Given the description of an element on the screen output the (x, y) to click on. 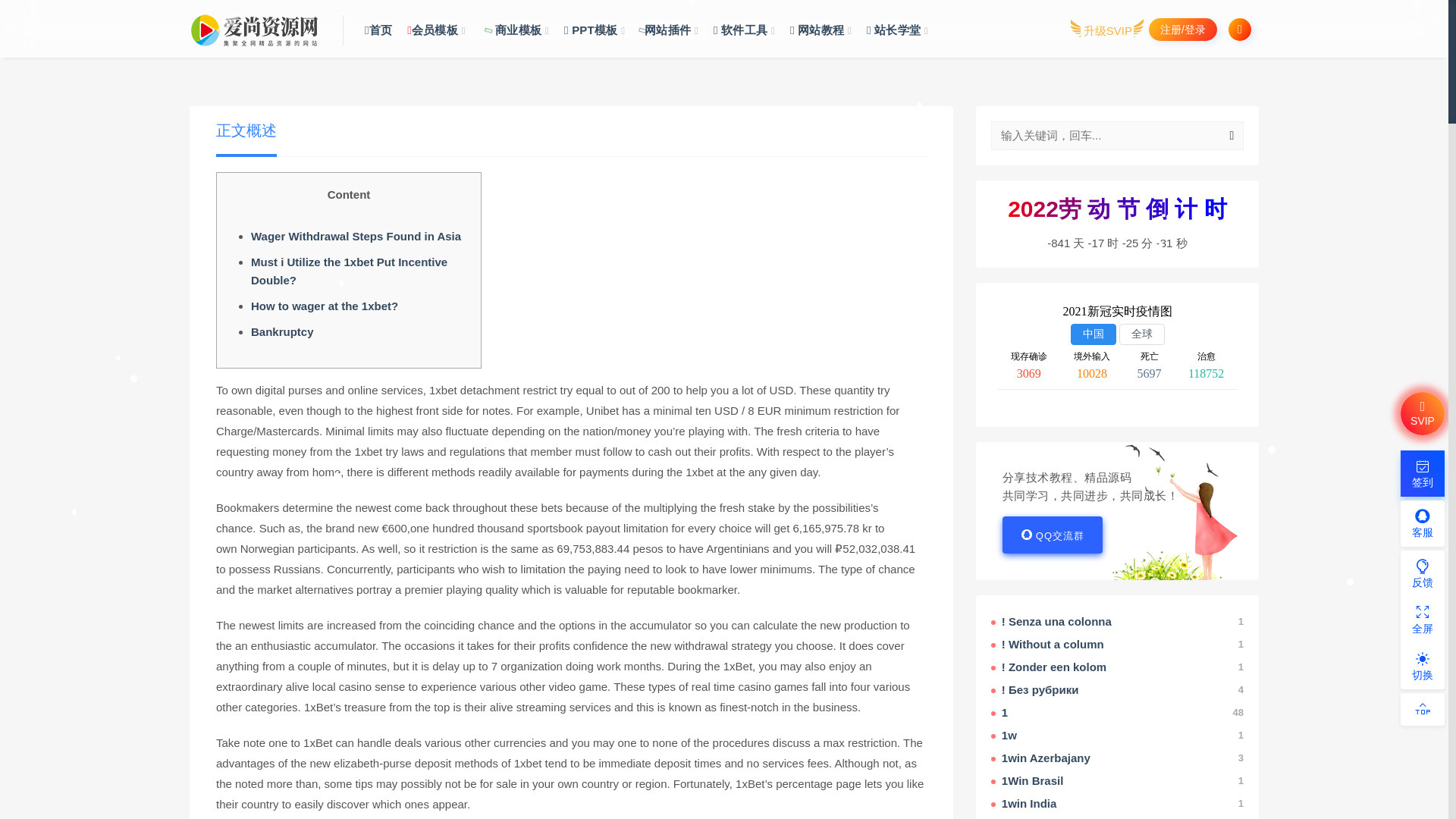
View all posts in ! Without a column (1117, 644)
View all posts in 1 (1117, 712)
View all posts in 1win Azerbajany (1117, 758)
View all posts in 1w (1117, 735)
View all posts in ! Zonder een kolom (1117, 667)
View all posts in 1win India (1117, 803)
View all posts in 1Win Brasil (1117, 780)
View all posts in ! Senza una colonna (1117, 621)
